Given the description of an element on the screen output the (x, y) to click on. 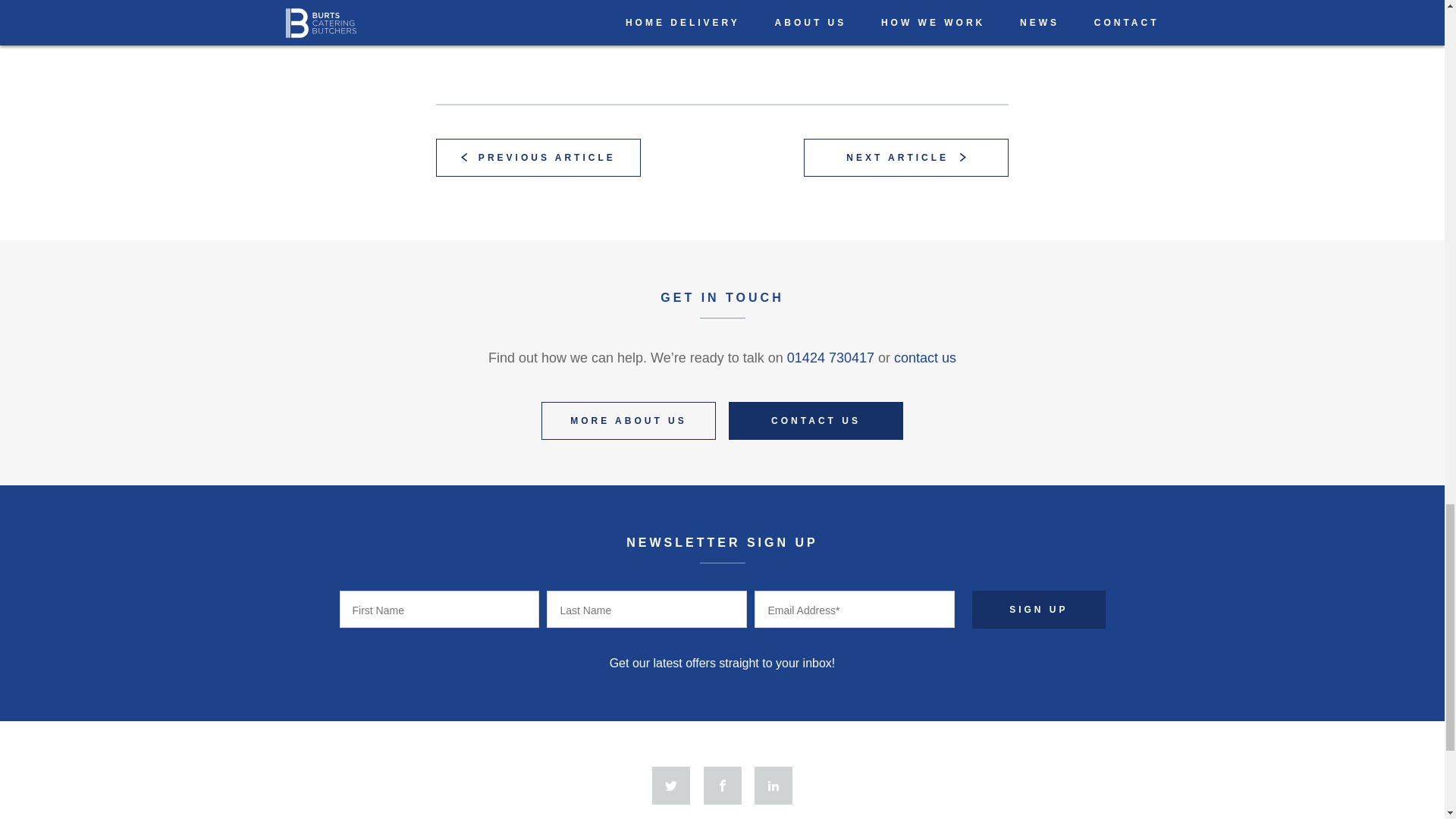
click here (971, 36)
01424 730417 (831, 357)
 PREVIOUS ARTICLE (537, 157)
contact us (924, 357)
MORE ABOUT US (628, 420)
Sign Up (1038, 609)
NEXT ARTICLE  (906, 157)
Sign Up (1038, 609)
Home Delivery Service (699, 9)
CONTACT US (815, 420)
